Given the description of an element on the screen output the (x, y) to click on. 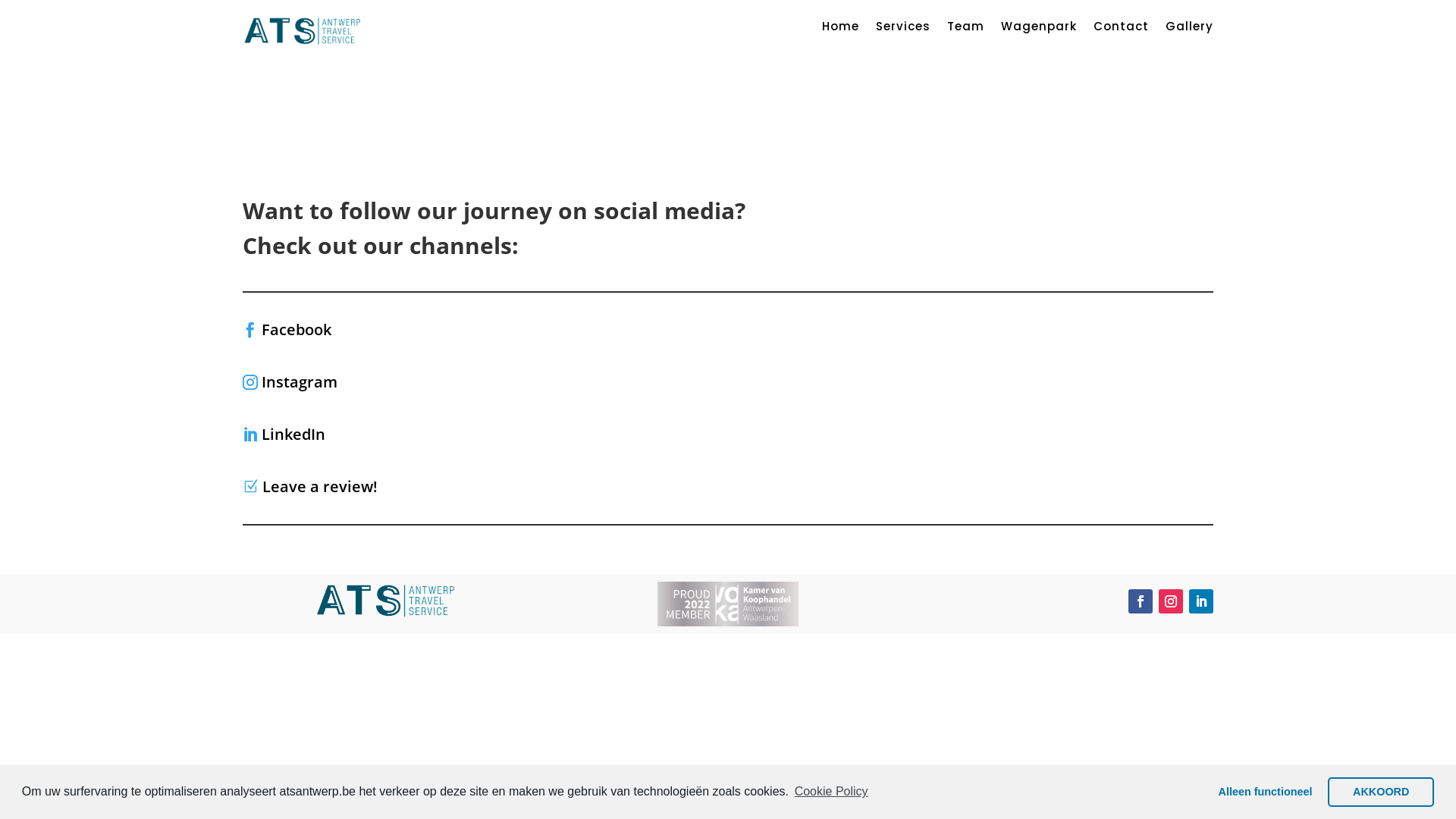
ATS-LOGO-nocity Element type: hover (303, 30)
Follow on LinkedIn Element type: hover (1201, 601)
Cookie Policy Element type: text (829, 791)
Follow on Instagram Element type: hover (1170, 601)
Follow on Facebook Element type: hover (1140, 601)
Services Element type: text (902, 29)
Home Element type: text (840, 29)
Z
Leave a review! Element type: text (309, 486)
Contact Element type: text (1120, 29)
AKKOORD Element type: text (1380, 791)
Alleen functioneel Element type: text (1265, 791)
Wagenpark Element type: text (1038, 29)
Team Element type: text (965, 29)
logo_voka Element type: hover (727, 603)
ATS-LOGO-nocity Element type: hover (386, 599)
Gallery Element type: text (1189, 29)
